Given the description of an element on the screen output the (x, y) to click on. 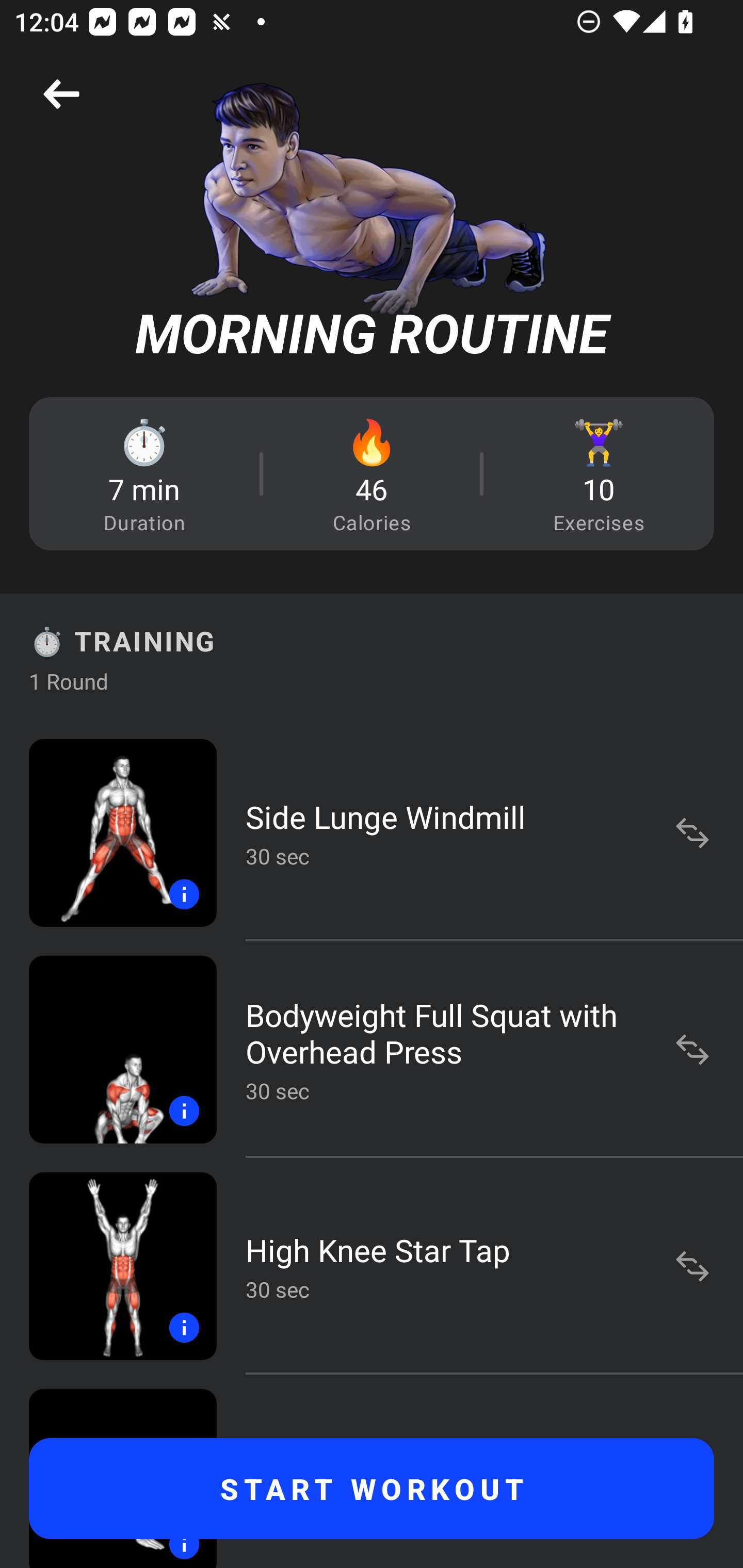
Side Lunge Windmill 30 sec (371, 832)
Bodyweight Full Squat with Overhead Press 30 sec (371, 1048)
High Knee Star Tap 30 sec (371, 1266)
START WORKOUT (371, 1488)
